Given the description of an element on the screen output the (x, y) to click on. 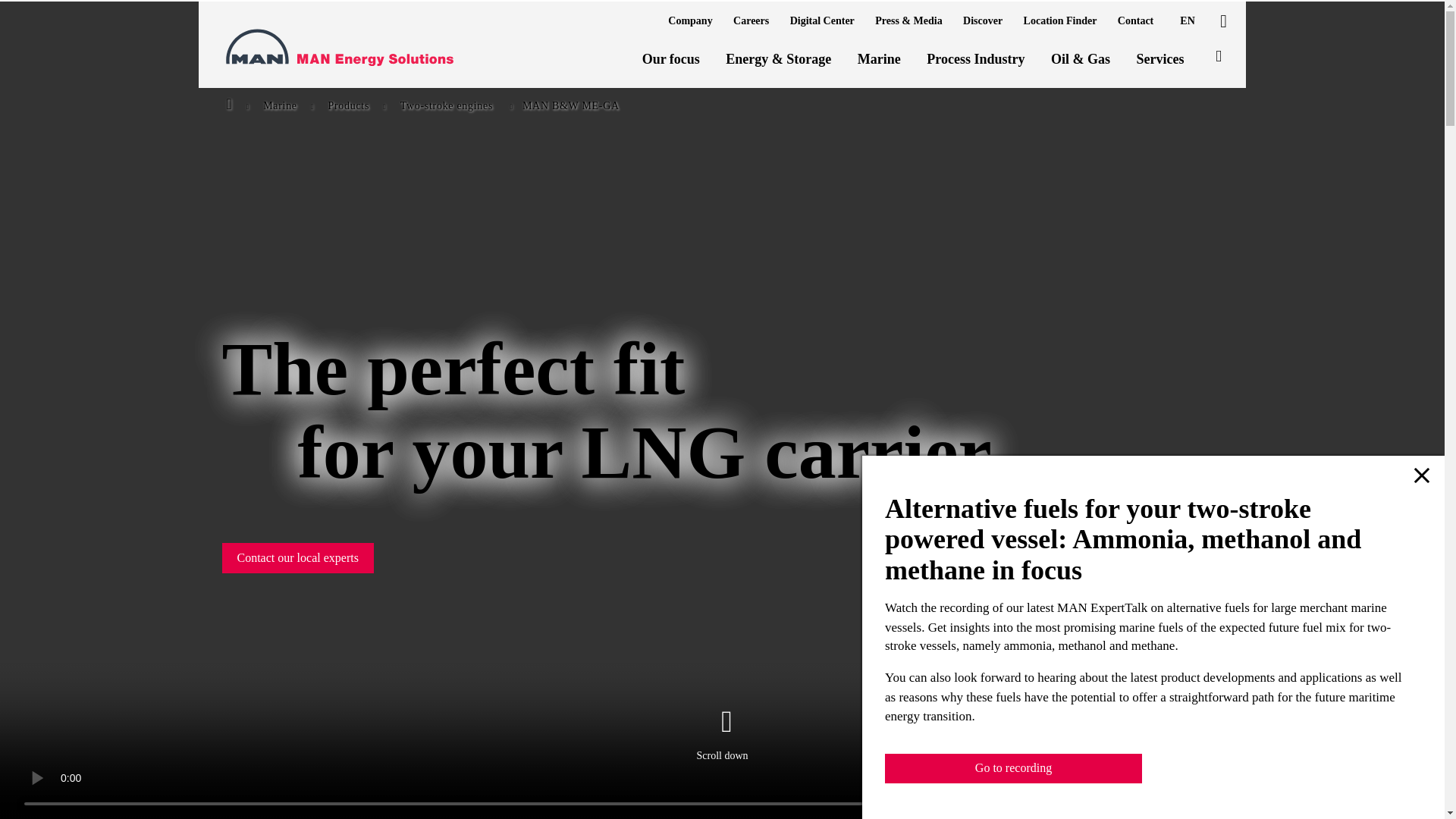
Careers (750, 20)
Location Finder (1060, 20)
Contact (1135, 20)
Services (1161, 58)
Marine (879, 58)
Discover (982, 20)
Digital Center (822, 20)
Company (689, 20)
Process Industry (975, 58)
Our focus (671, 58)
